Given the description of an element on the screen output the (x, y) to click on. 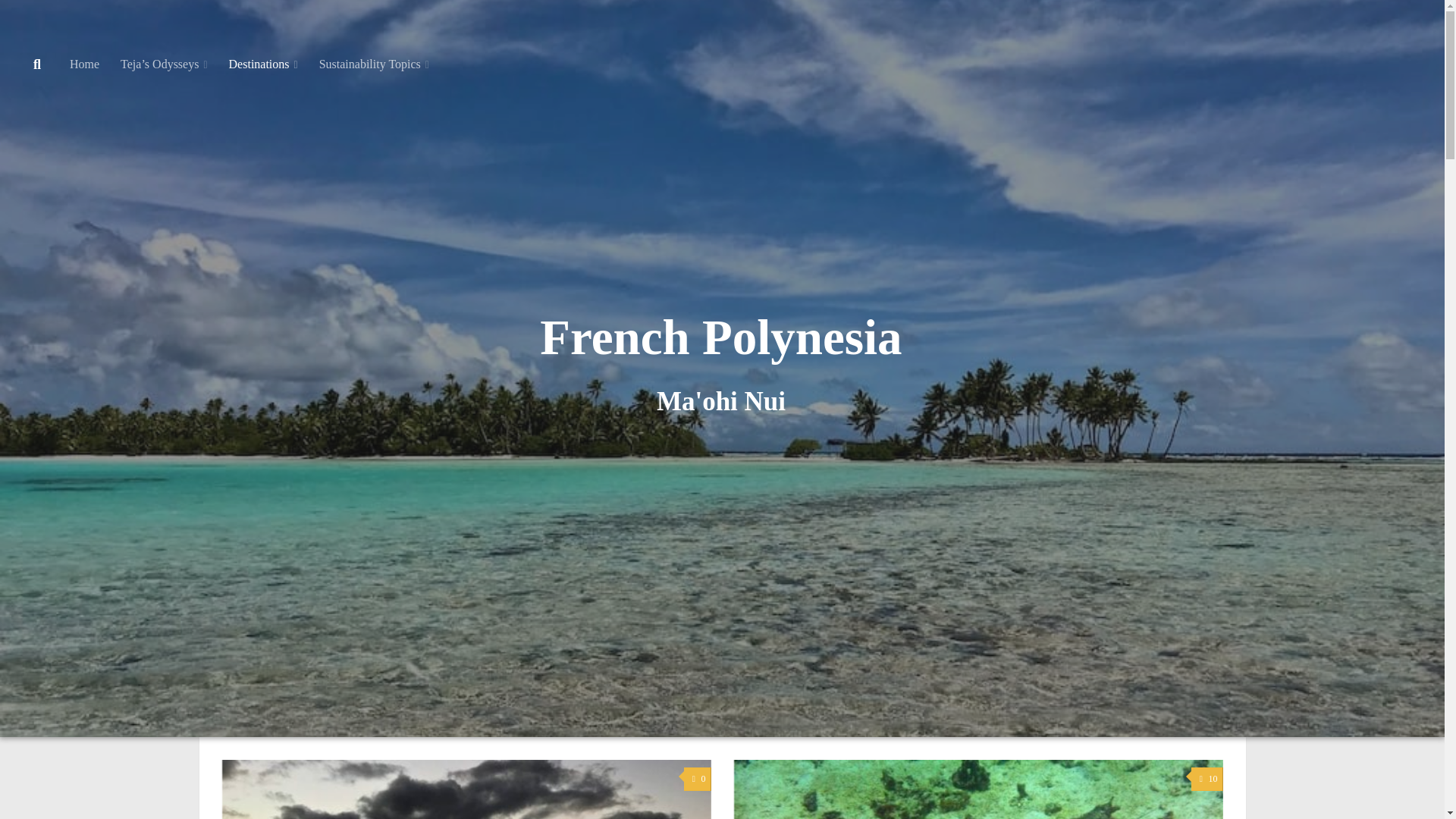
Home (84, 64)
Below content (56, 20)
Destinations (263, 64)
